Given the description of an element on the screen output the (x, y) to click on. 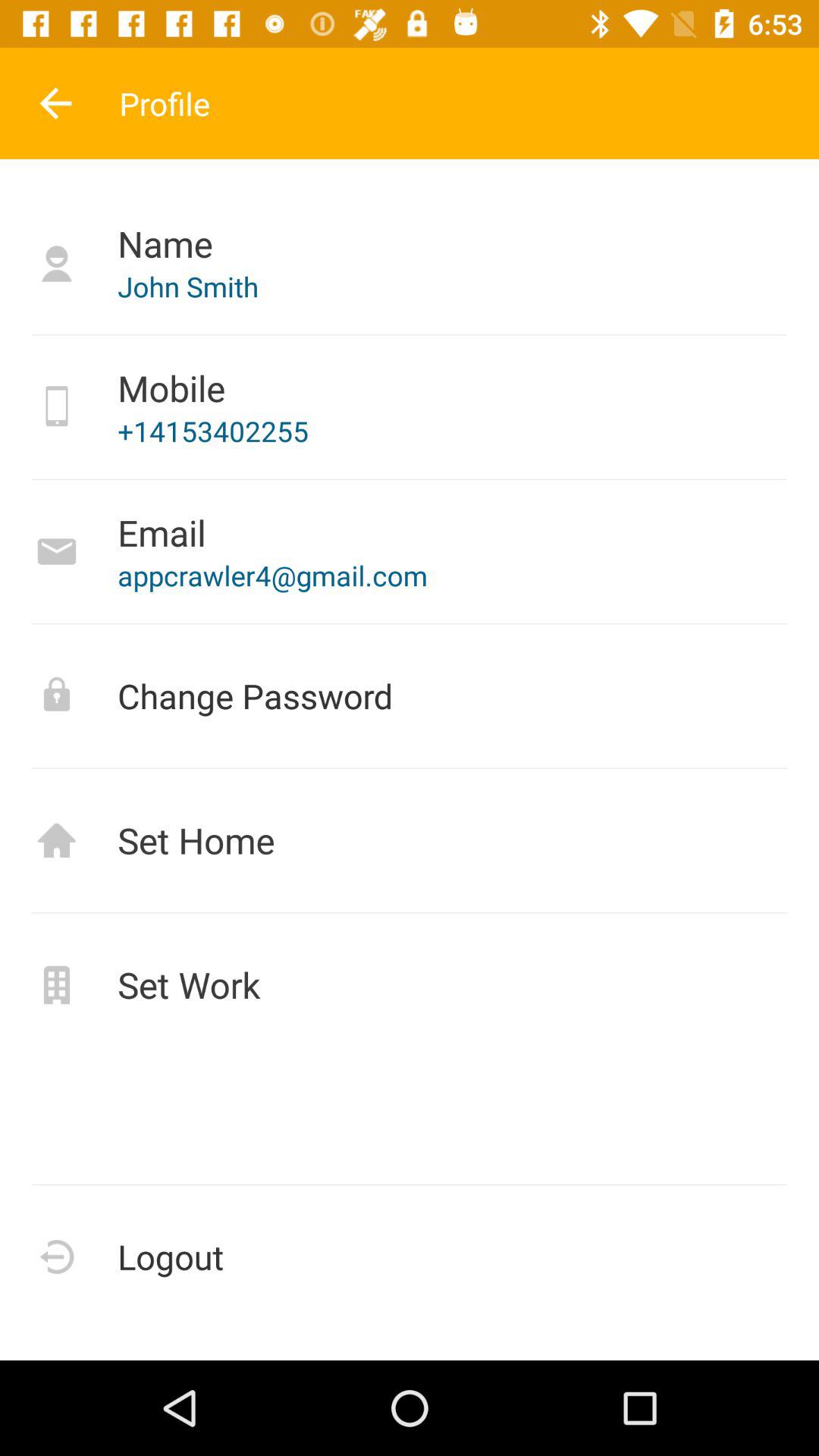
launch the change password item (409, 695)
